Given the description of an element on the screen output the (x, y) to click on. 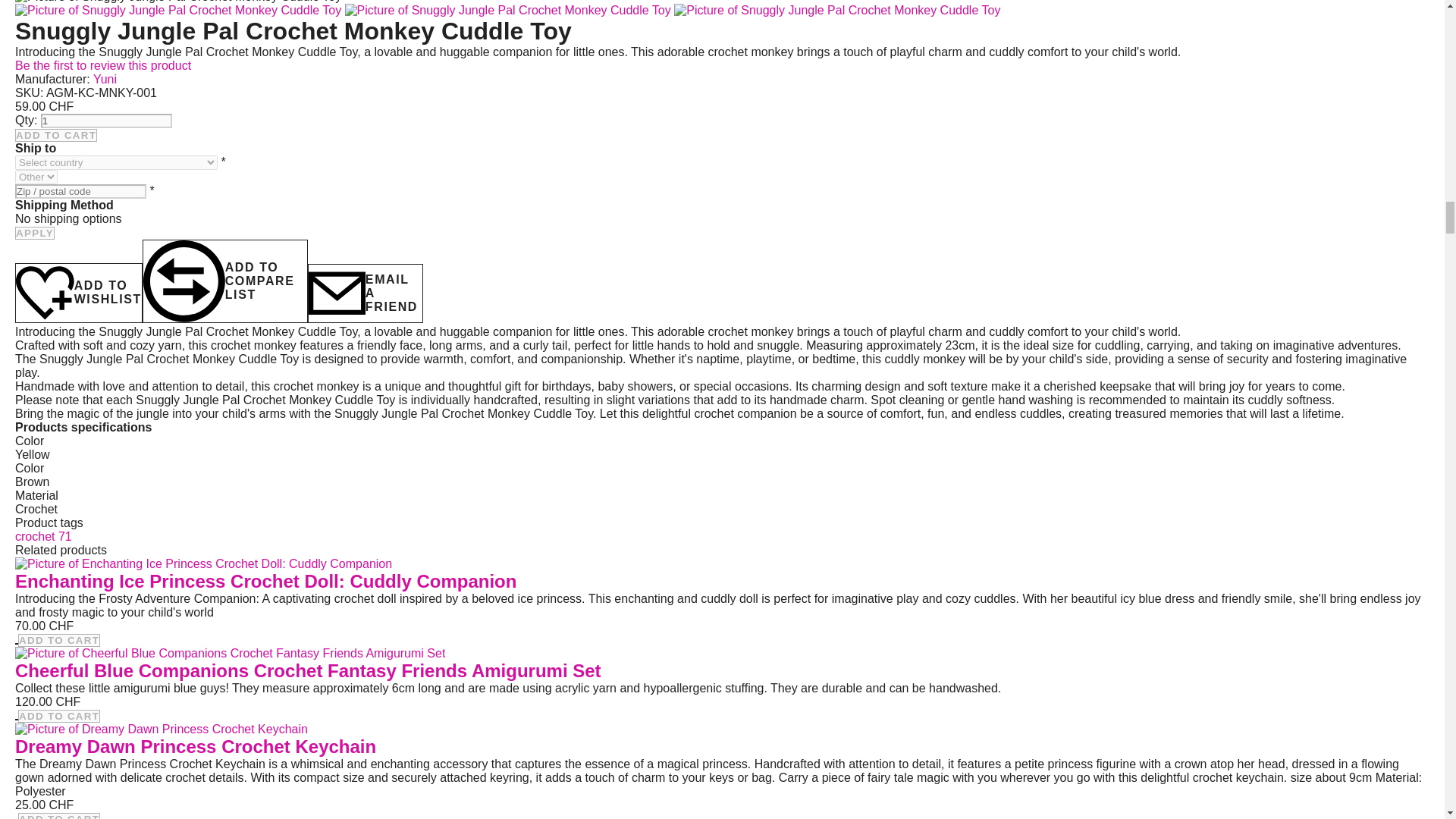
1 (105, 120)
Picture of Snuggly Jungle Pal Crochet Monkey Cuddle Toy (837, 10)
Picture of Snuggly Jungle Pal Crochet Monkey Cuddle Toy (837, 10)
Picture of Snuggly Jungle Pal Crochet Monkey Cuddle Toy (508, 10)
Picture of Snuggly Jungle Pal Crochet Monkey Cuddle Toy (510, 10)
Picture of Snuggly Jungle Pal Crochet Monkey Cuddle Toy (177, 10)
Add to cart (55, 134)
